Given the description of an element on the screen output the (x, y) to click on. 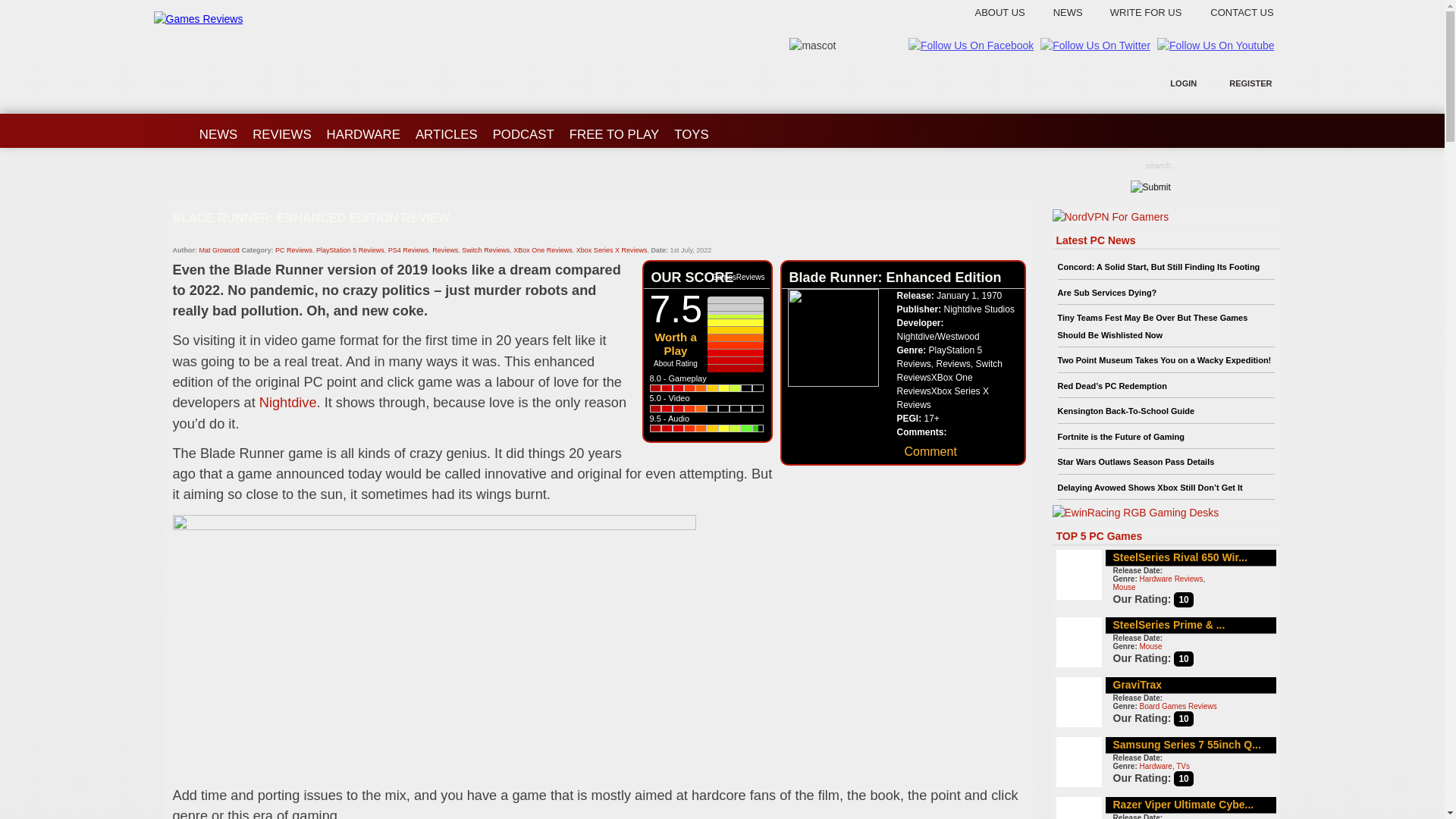
Blade Runner: Enhanced Edition Review (599, 230)
PODCAST (523, 128)
search... (1201, 164)
Follow Us On Facebook (970, 45)
CONTACT US (1239, 12)
SteelSeries Rival 650 Wireless Gaming Mouse Review (1180, 557)
NEWS (218, 128)
REVIEWS (281, 128)
We use NordVPN (1110, 217)
REGISTER (1249, 82)
